Given the description of an element on the screen output the (x, y) to click on. 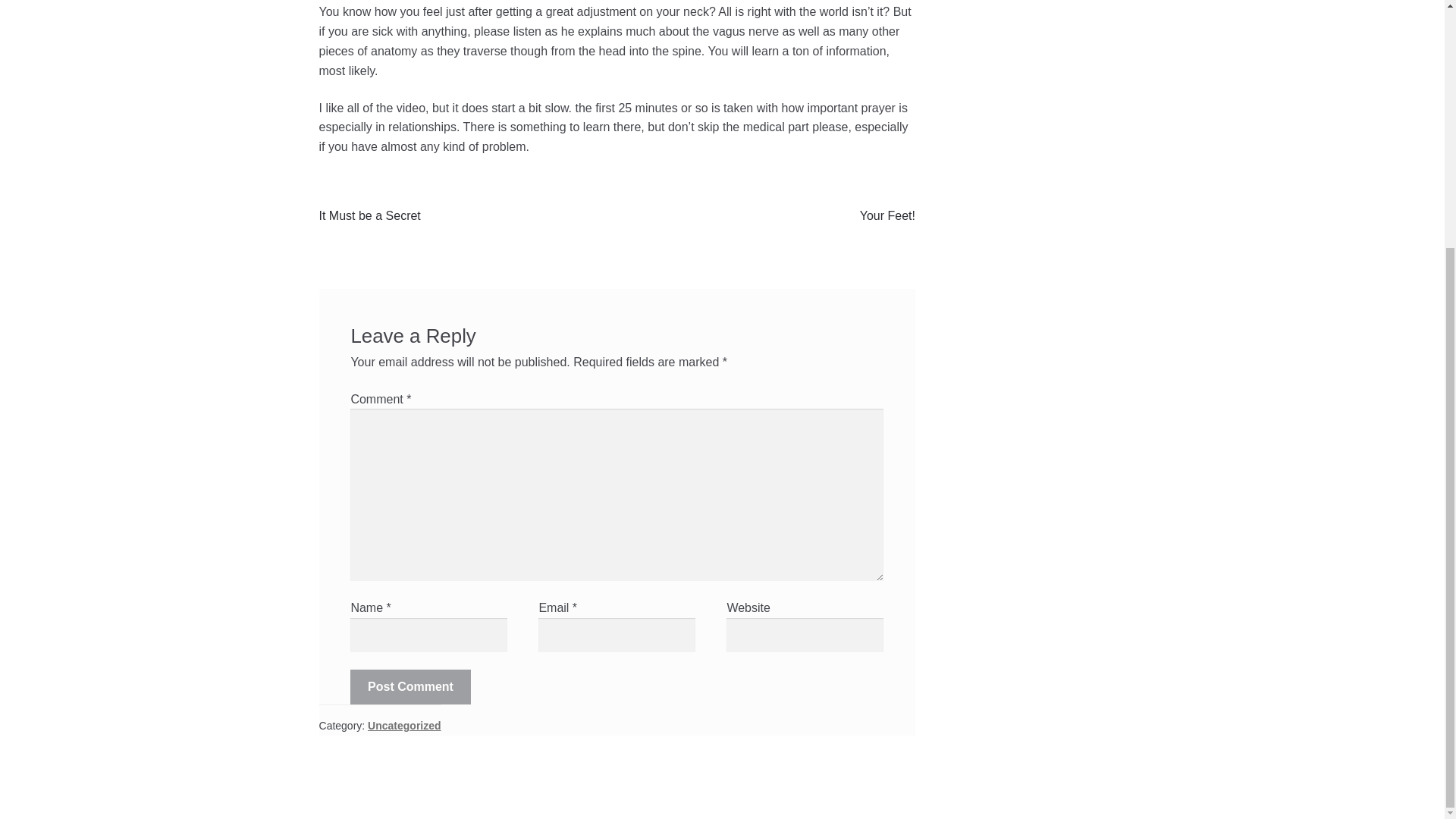
Uncategorized (404, 725)
Post Comment (410, 686)
Post Comment (410, 686)
